Given the description of an element on the screen output the (x, y) to click on. 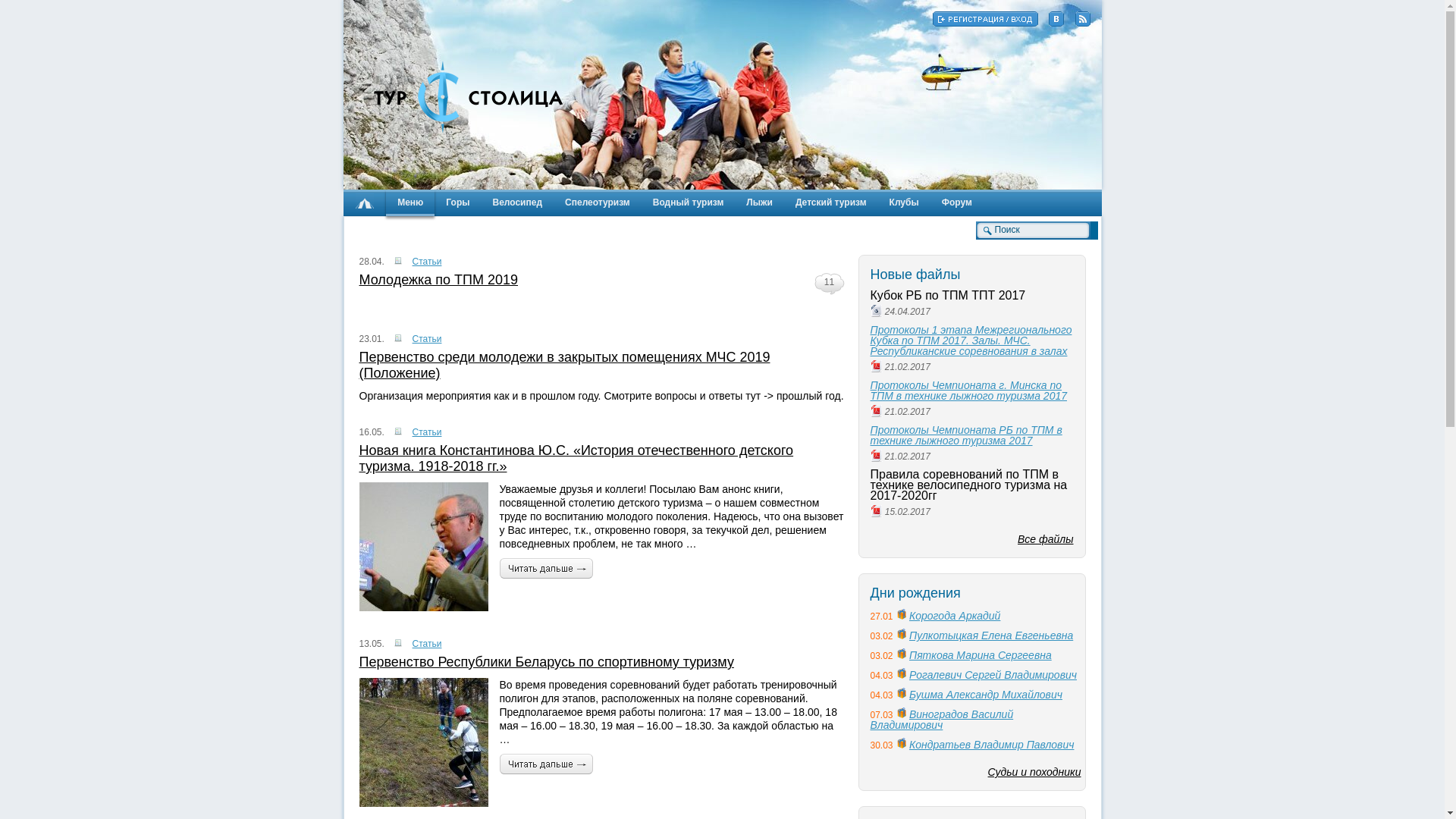
         Element type: text (363, 202)
